Given the description of an element on the screen output the (x, y) to click on. 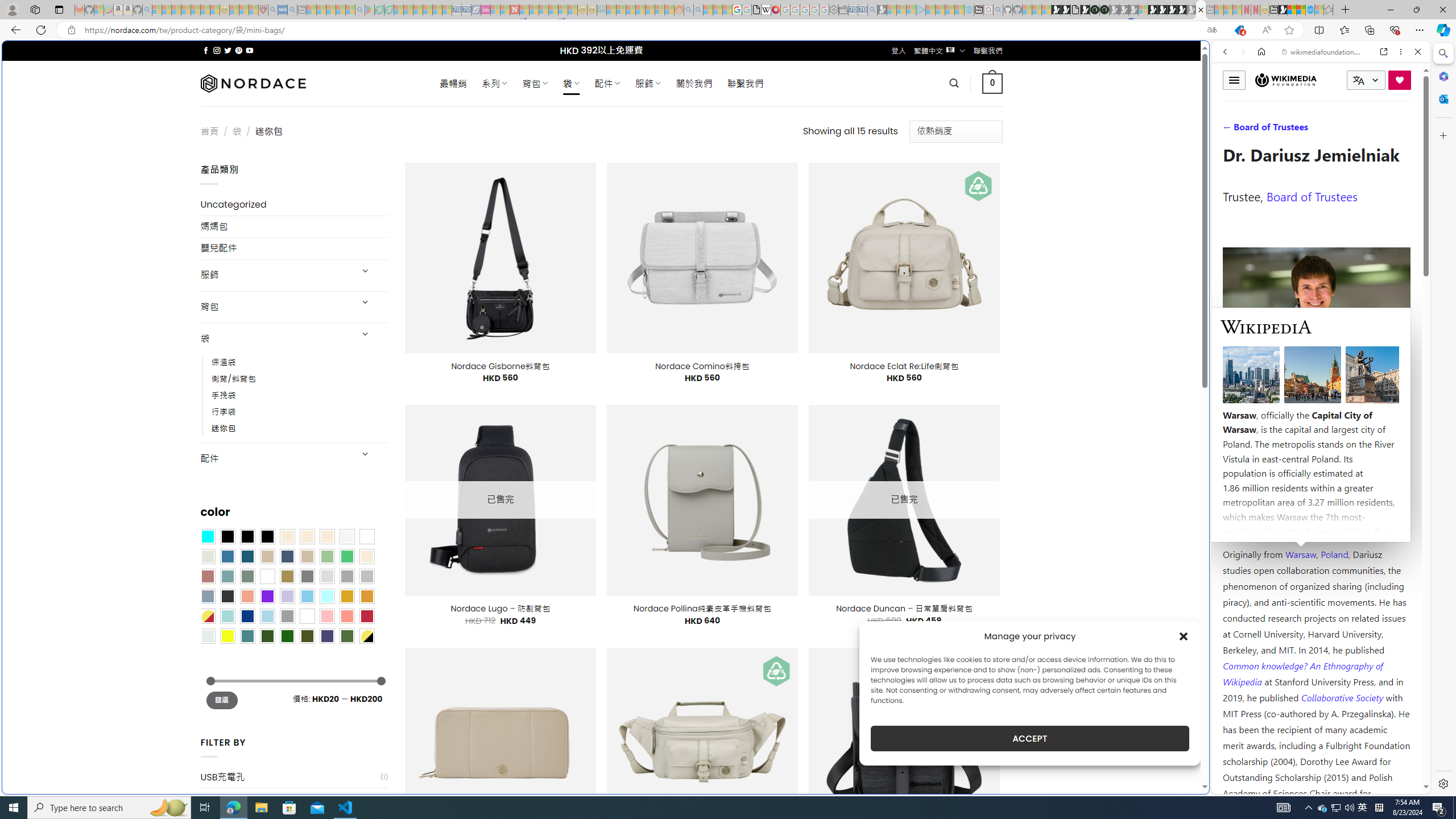
Bing Real Estate - Home sales and rental listings - Sleeping (872, 9)
Play Free Online Games | Games from Microsoft Start (1162, 9)
MSN (1283, 9)
Harvard University (1259, 526)
